Given the description of an element on the screen output the (x, y) to click on. 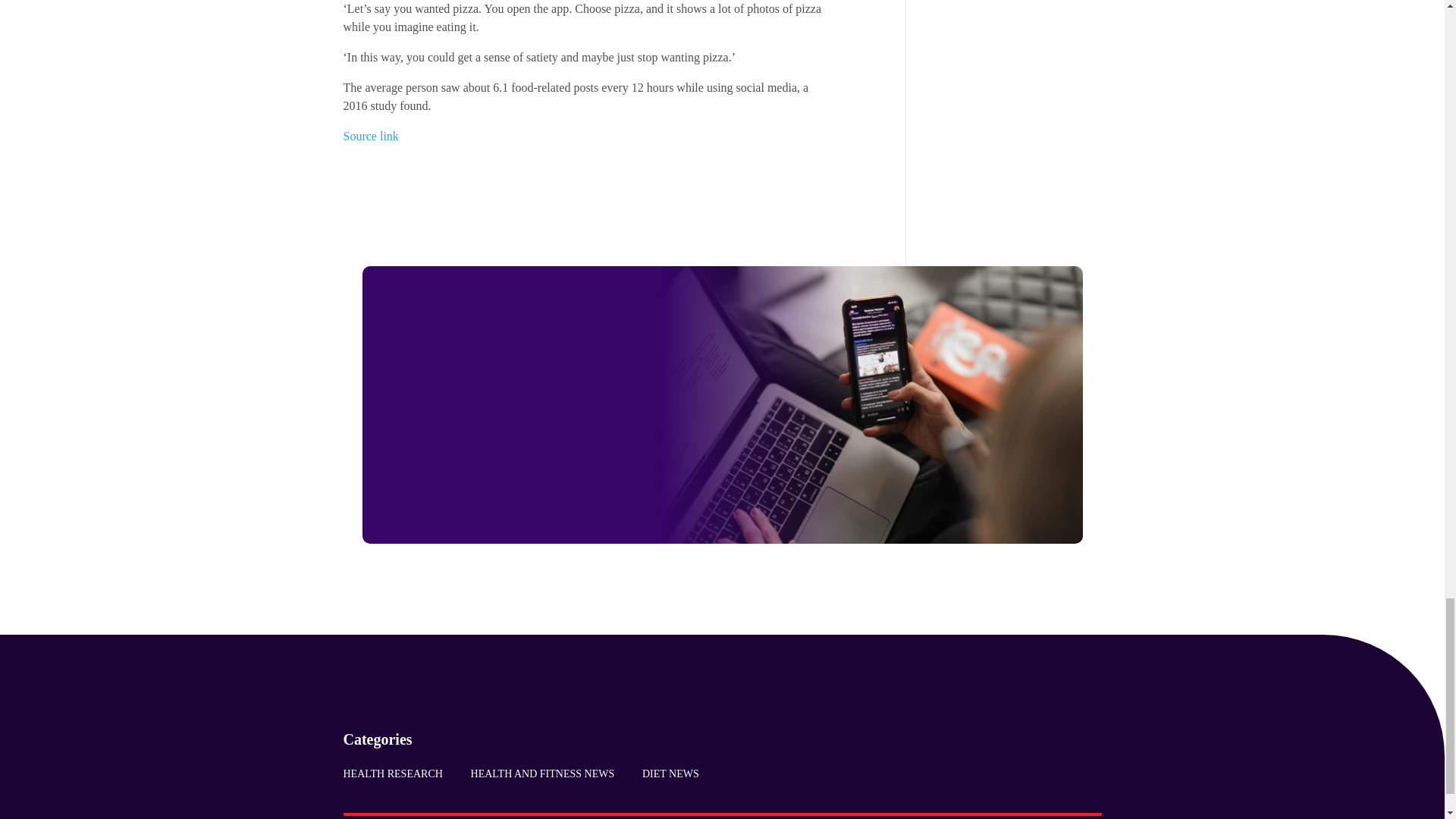
Source link (369, 135)
Sign Me Up (534, 491)
DIET NEWS (663, 773)
HEALTH RESEARCH (399, 773)
HEALTH AND FITNESS NEWS (542, 773)
